Given the description of an element on the screen output the (x, y) to click on. 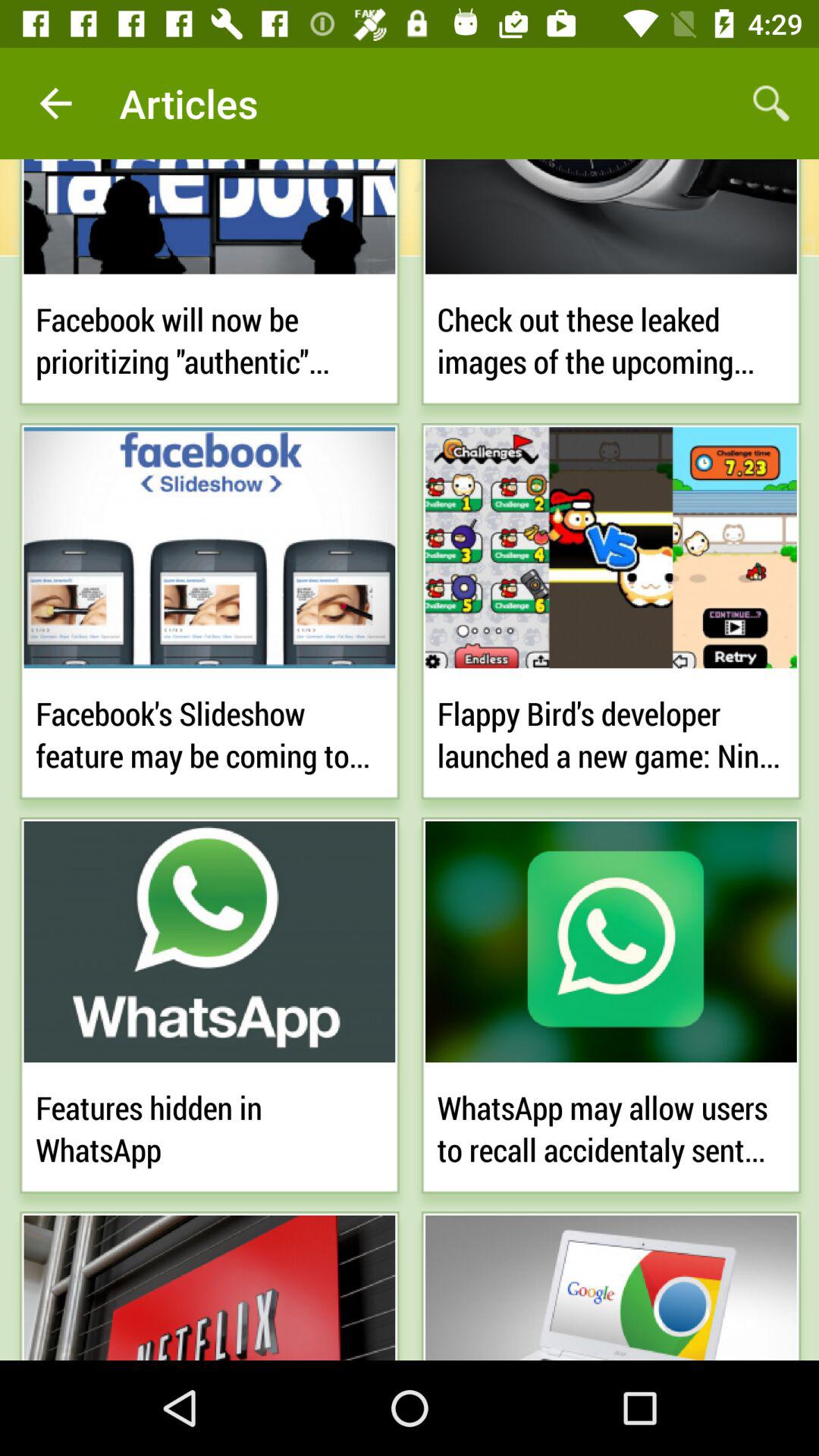
open whatsapp may allow item (610, 1125)
